Given the description of an element on the screen output the (x, y) to click on. 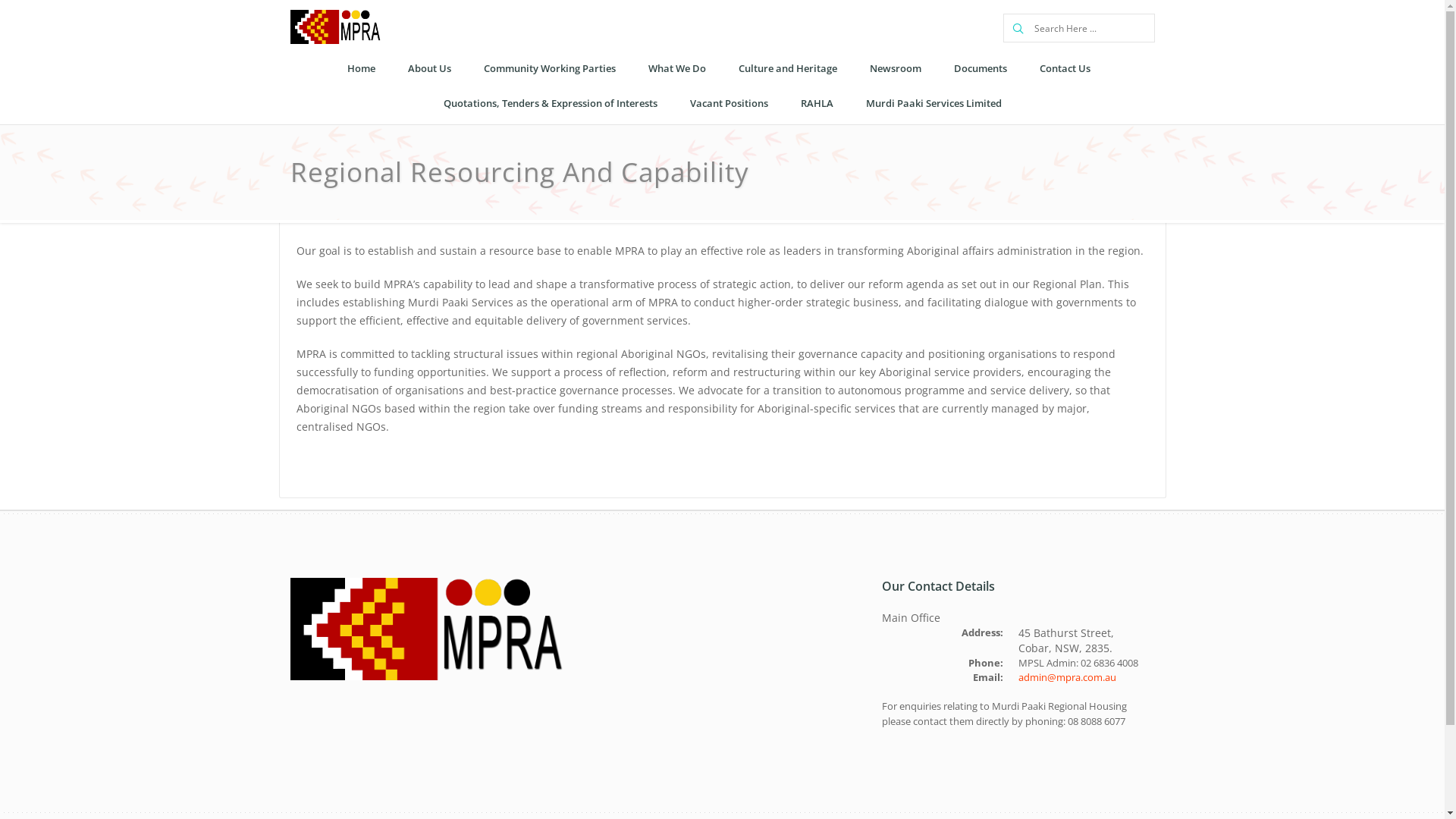
Documents Element type: text (979, 68)
Quotations, Tenders & Expression of Interests Element type: text (550, 102)
Murdi Paaki Services Limited Element type: text (932, 102)
About Us Element type: text (428, 68)
Community Working Parties Element type: text (548, 68)
RAHLA Element type: text (816, 102)
Newsroom Element type: text (895, 68)
admin@mpra.com.au Element type: text (1066, 677)
Contact Us Element type: text (1064, 68)
Home Element type: text (360, 68)
Culture and Heritage Element type: text (786, 68)
What We Do Element type: text (677, 68)
Vacant Positions Element type: text (727, 102)
